Given the description of an element on the screen output the (x, y) to click on. 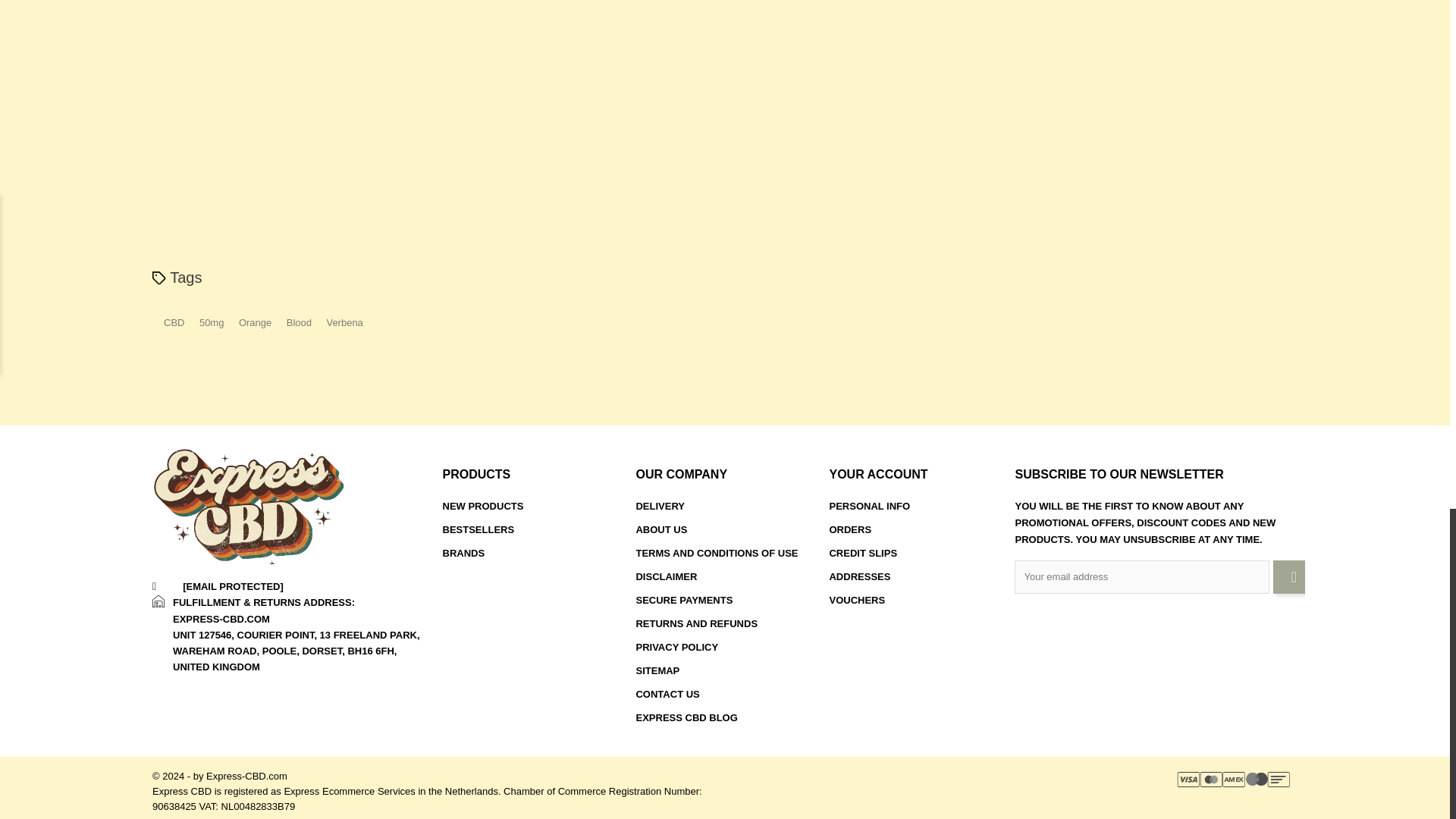
50mg (217, 322)
Verbena (350, 322)
Blood (304, 322)
CBD (179, 322)
Orange (260, 322)
